Given the description of an element on the screen output the (x, y) to click on. 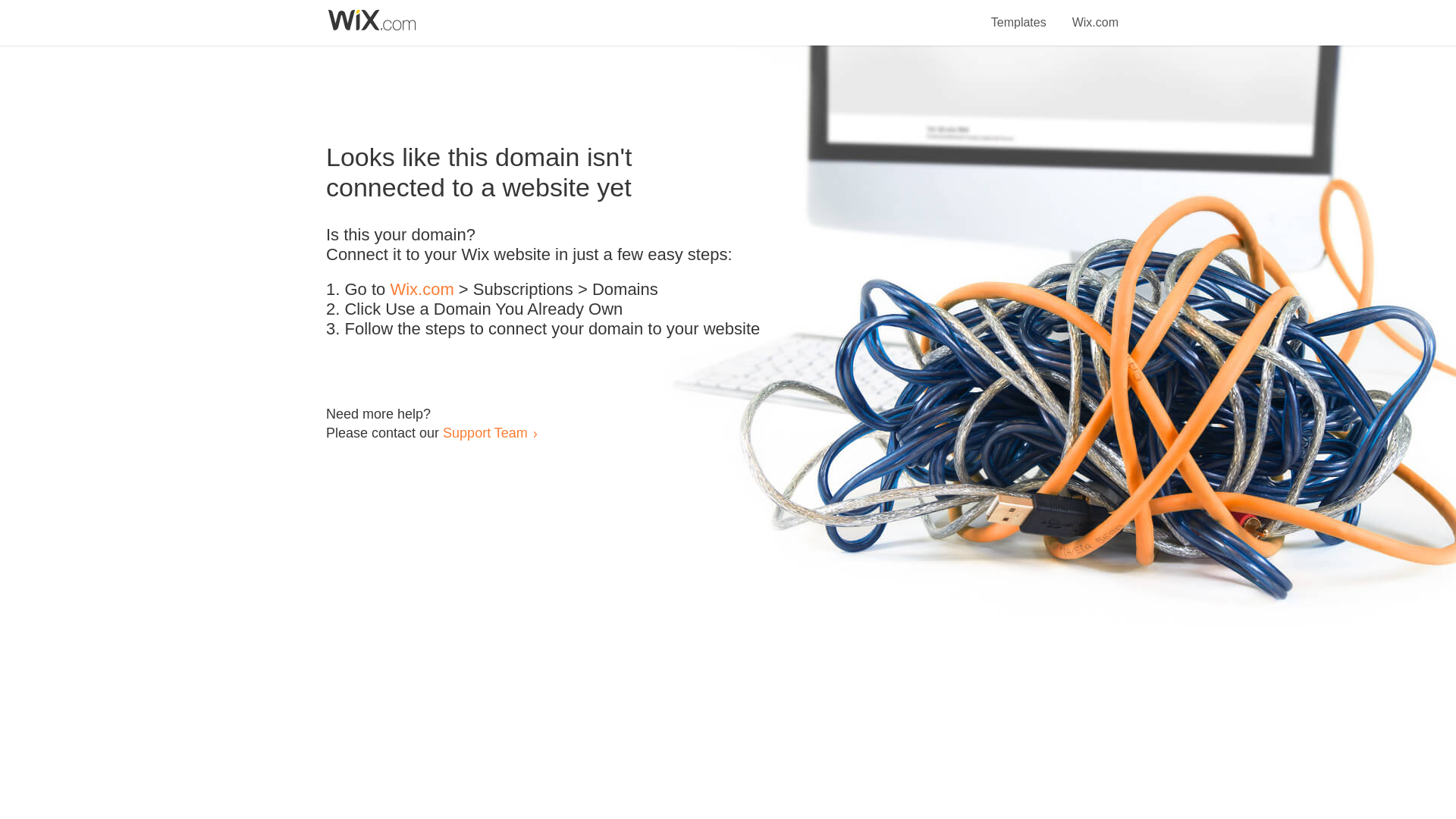
Support Team (484, 432)
Wix.com (1095, 14)
Templates (1018, 14)
Wix.com (421, 289)
